Given the description of an element on the screen output the (x, y) to click on. 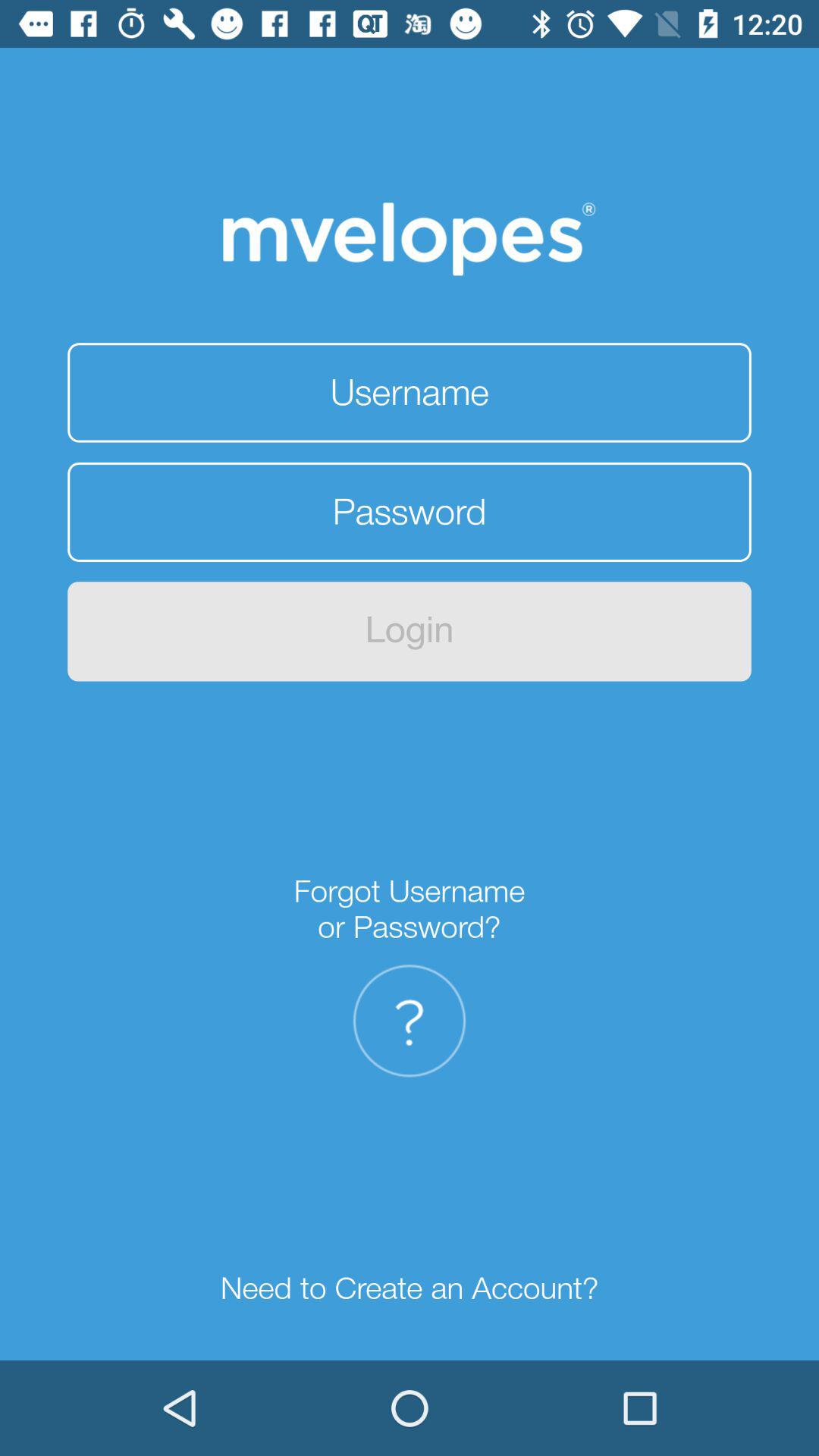
help (409, 1020)
